Given the description of an element on the screen output the (x, y) to click on. 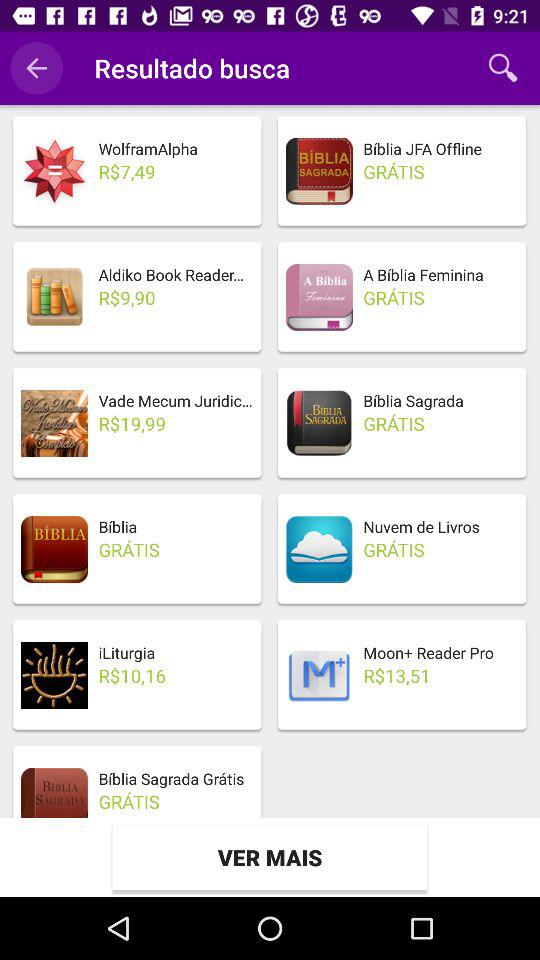
tap icon to the left of the resultado busca item (36, 68)
